Given the description of an element on the screen output the (x, y) to click on. 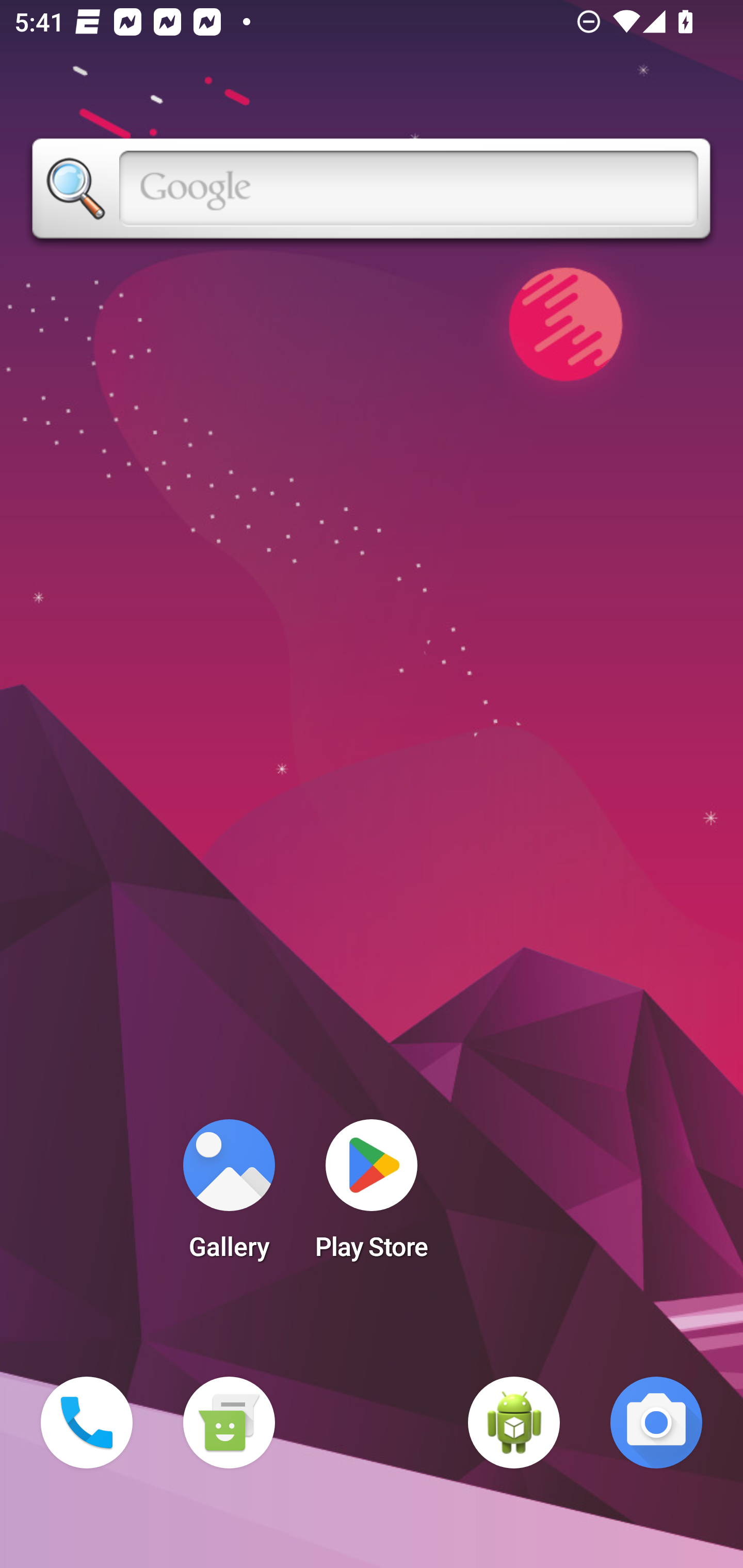
Gallery (228, 1195)
Play Store (371, 1195)
Phone (86, 1422)
Messaging (228, 1422)
WebView Browser Tester (513, 1422)
Camera (656, 1422)
